Given the description of an element on the screen output the (x, y) to click on. 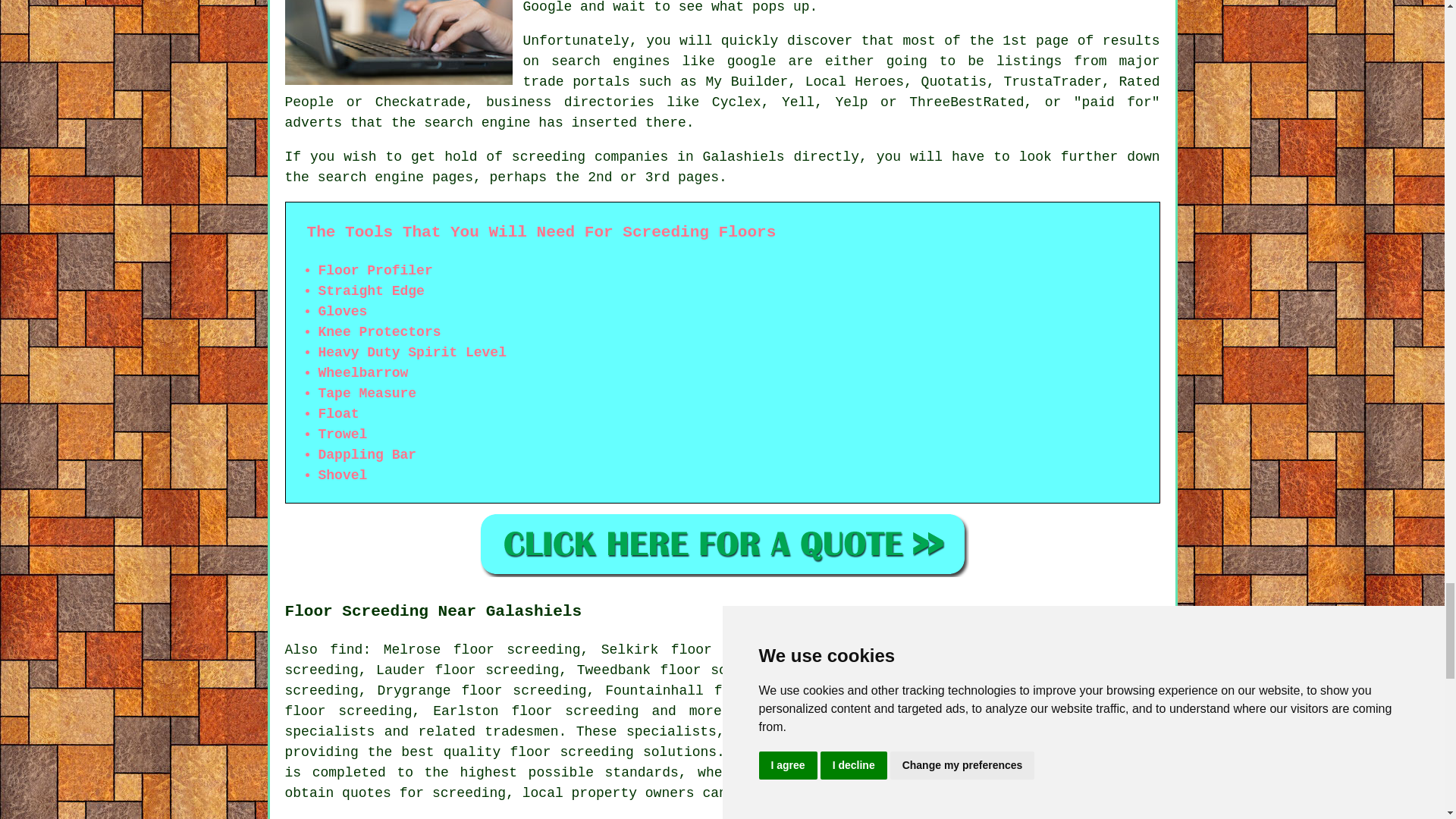
Search Engine Results Screeding Galashiels (398, 42)
screeding specialists (722, 721)
